Given the description of an element on the screen output the (x, y) to click on. 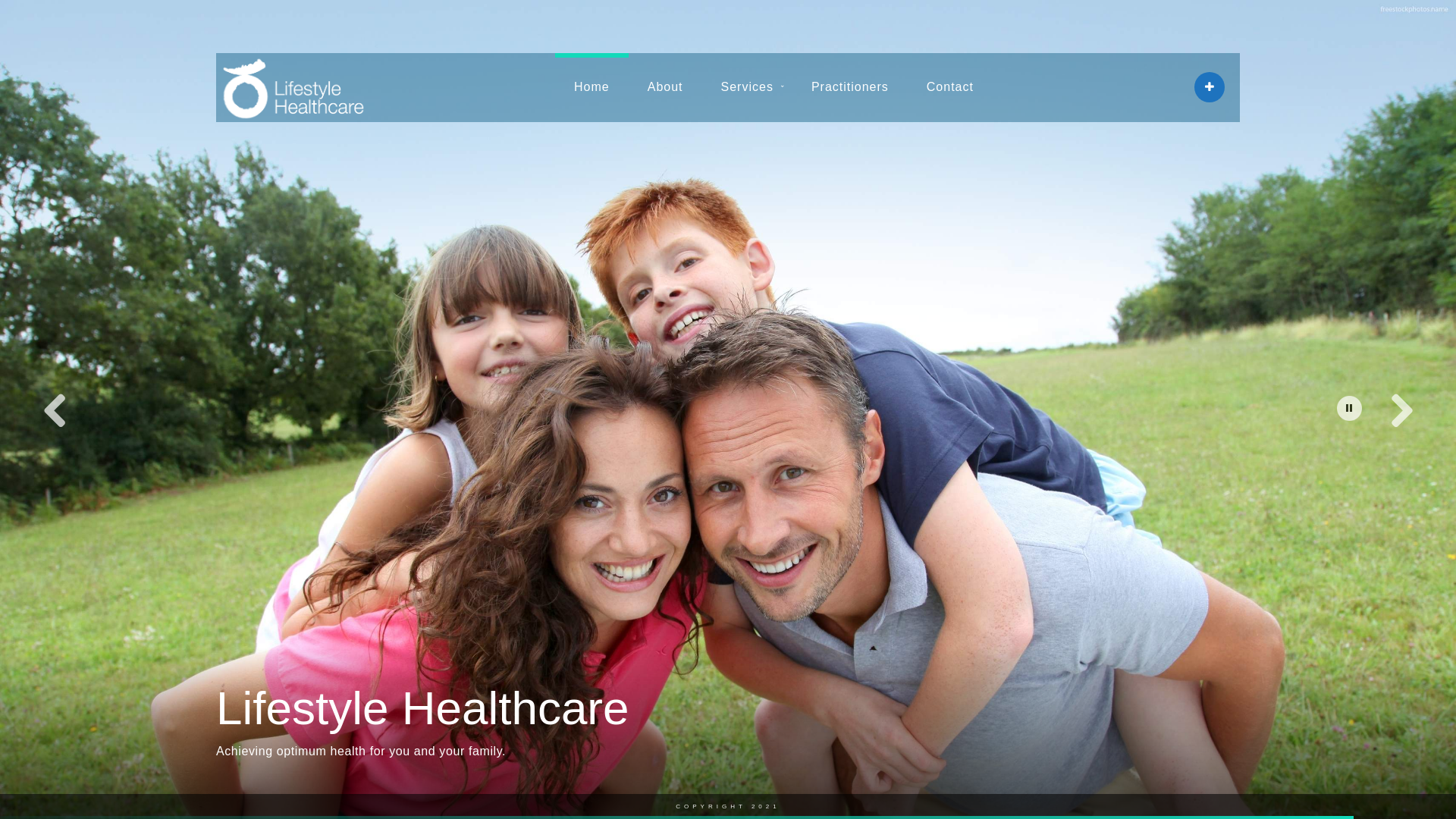
Contact Element type: text (949, 87)
Home Element type: text (591, 87)
Services Element type: text (747, 87)
Practitioners Element type: text (849, 87)
About Element type: text (665, 87)
